Given the description of an element on the screen output the (x, y) to click on. 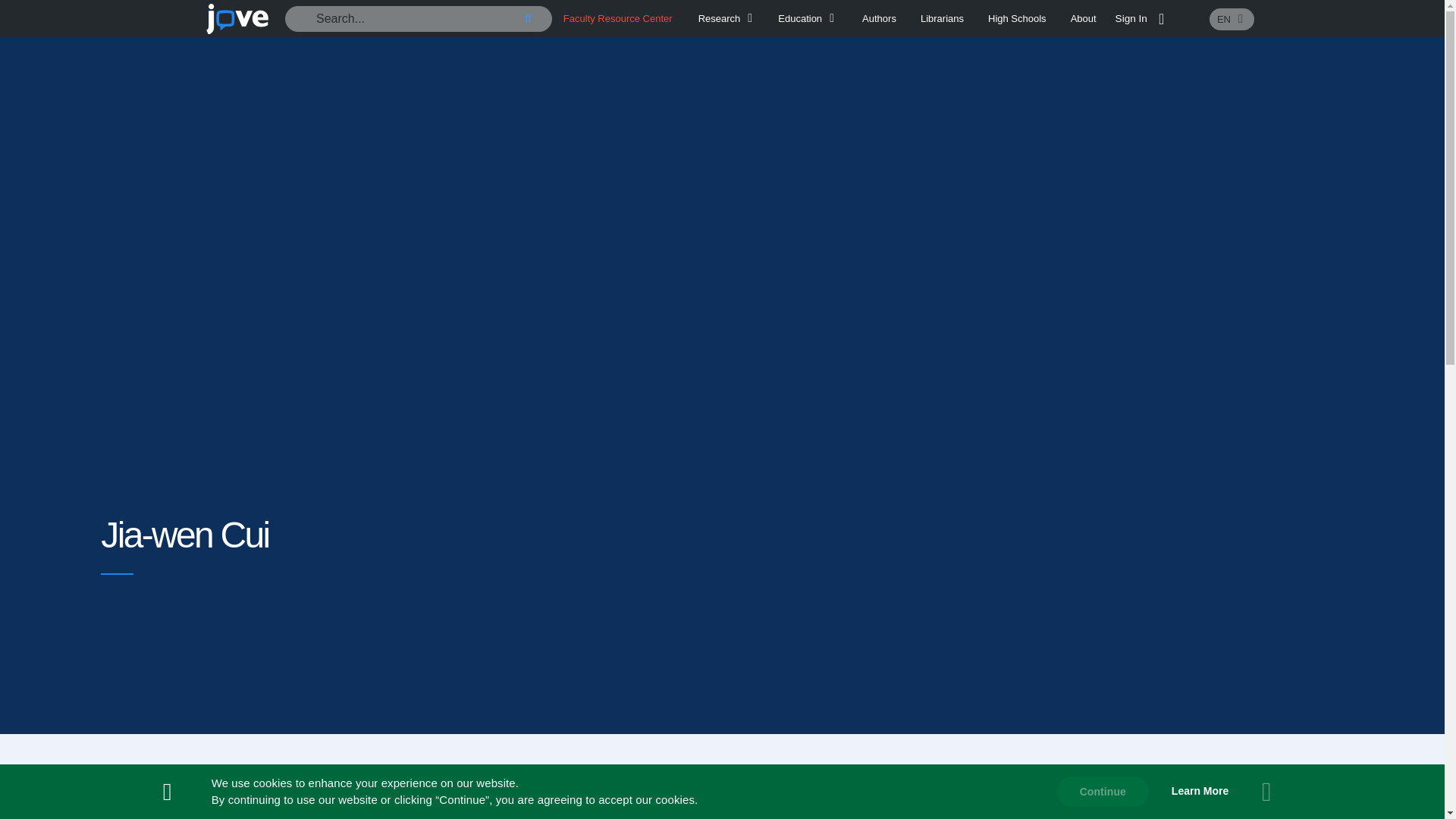
EN (1231, 18)
Education (807, 18)
Authors (878, 18)
BIOGRAPHY (722, 800)
Librarians (941, 18)
About (1083, 18)
Research (727, 18)
High Schools (1017, 18)
Faculty Resource Center (617, 18)
